Given the description of an element on the screen output the (x, y) to click on. 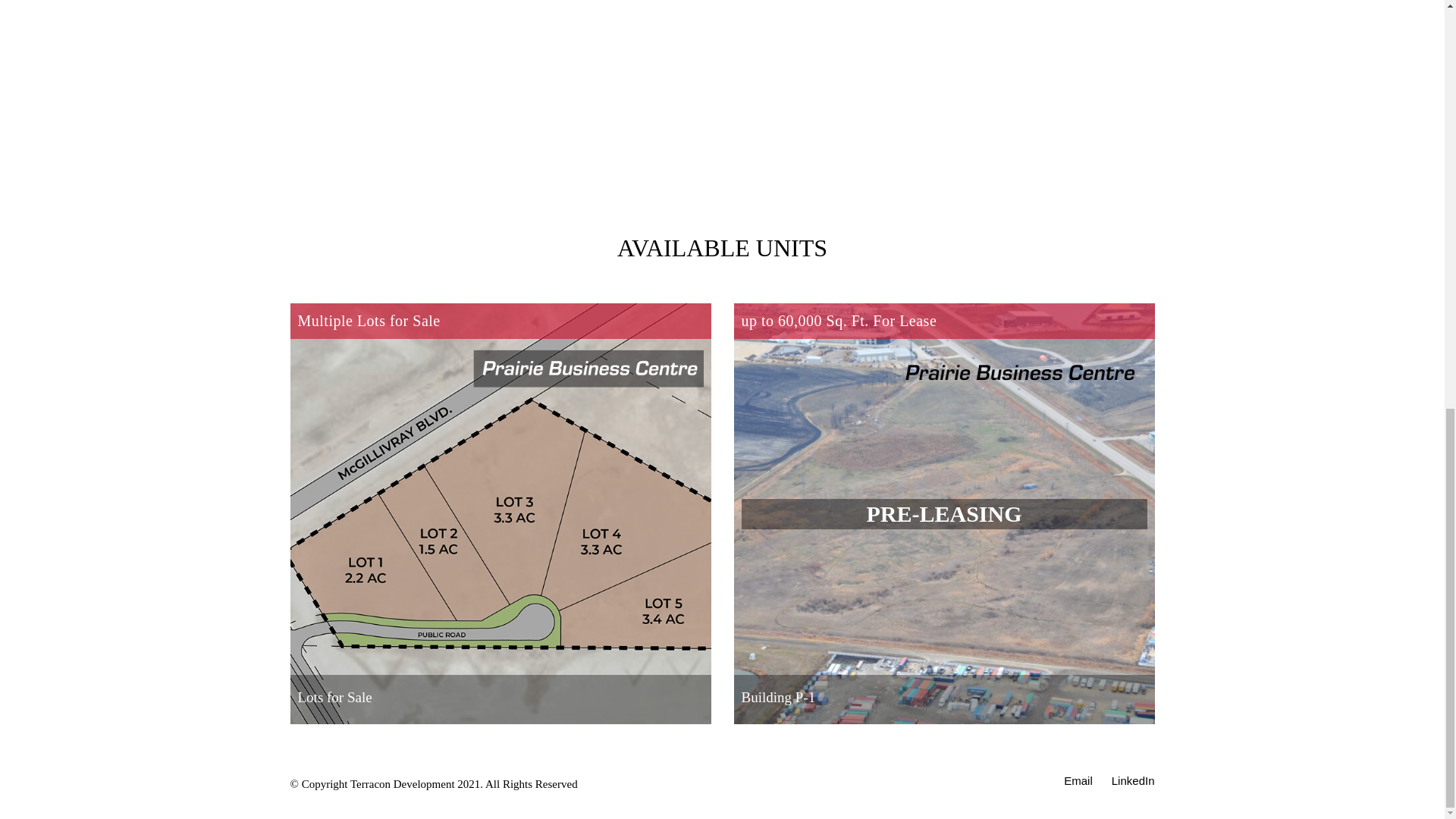
Lots for Sale (334, 697)
Email (1078, 780)
Building P-1 (778, 697)
Lots for Sale (334, 697)
LinkedIn (1133, 780)
